Given the description of an element on the screen output the (x, y) to click on. 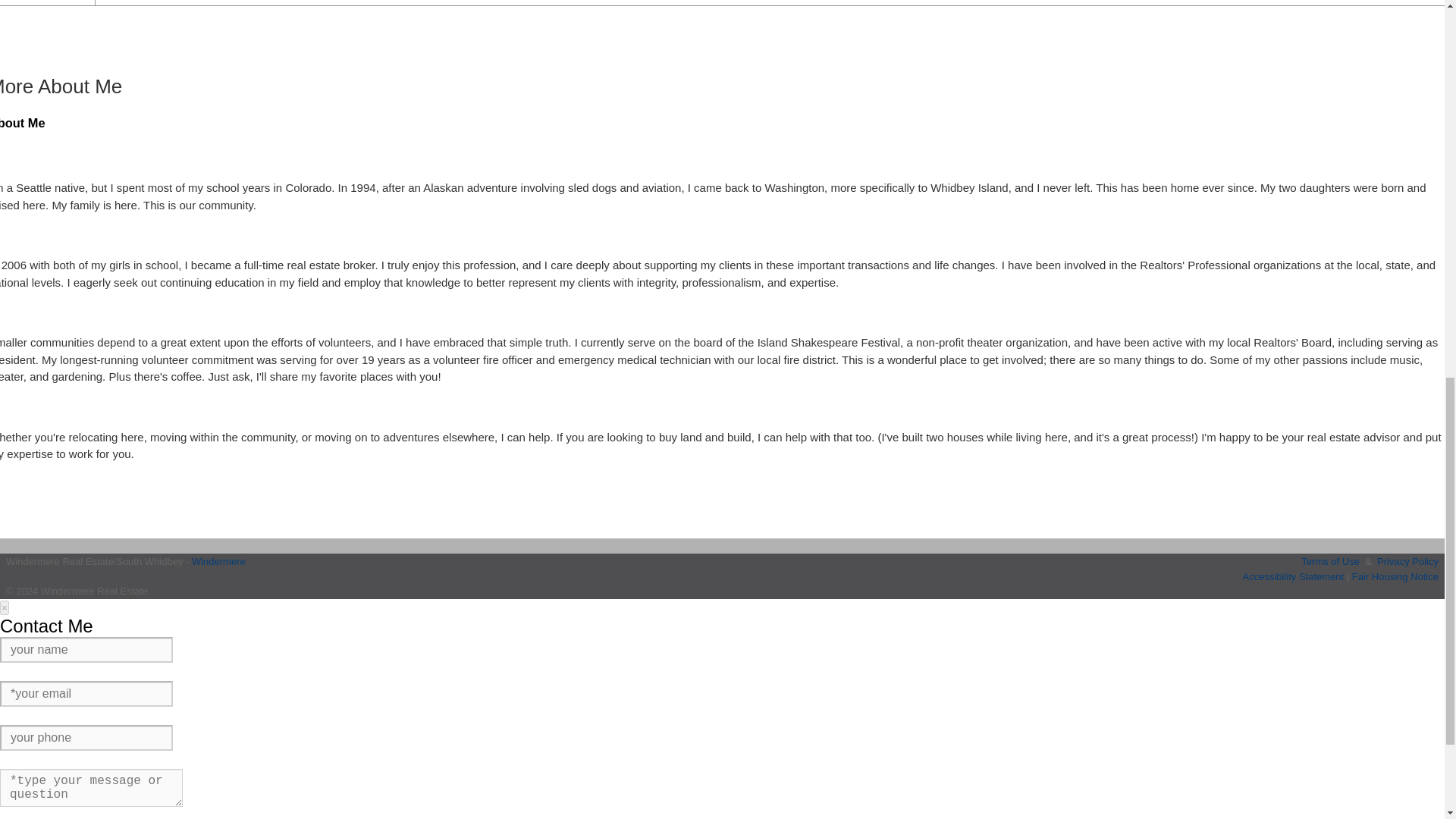
Terms of Use (1330, 561)
Windermere (219, 561)
Fair Housing Notice (1395, 575)
Privacy Policy (1407, 561)
Accessibility Statement (1293, 575)
